Given the description of an element on the screen output the (x, y) to click on. 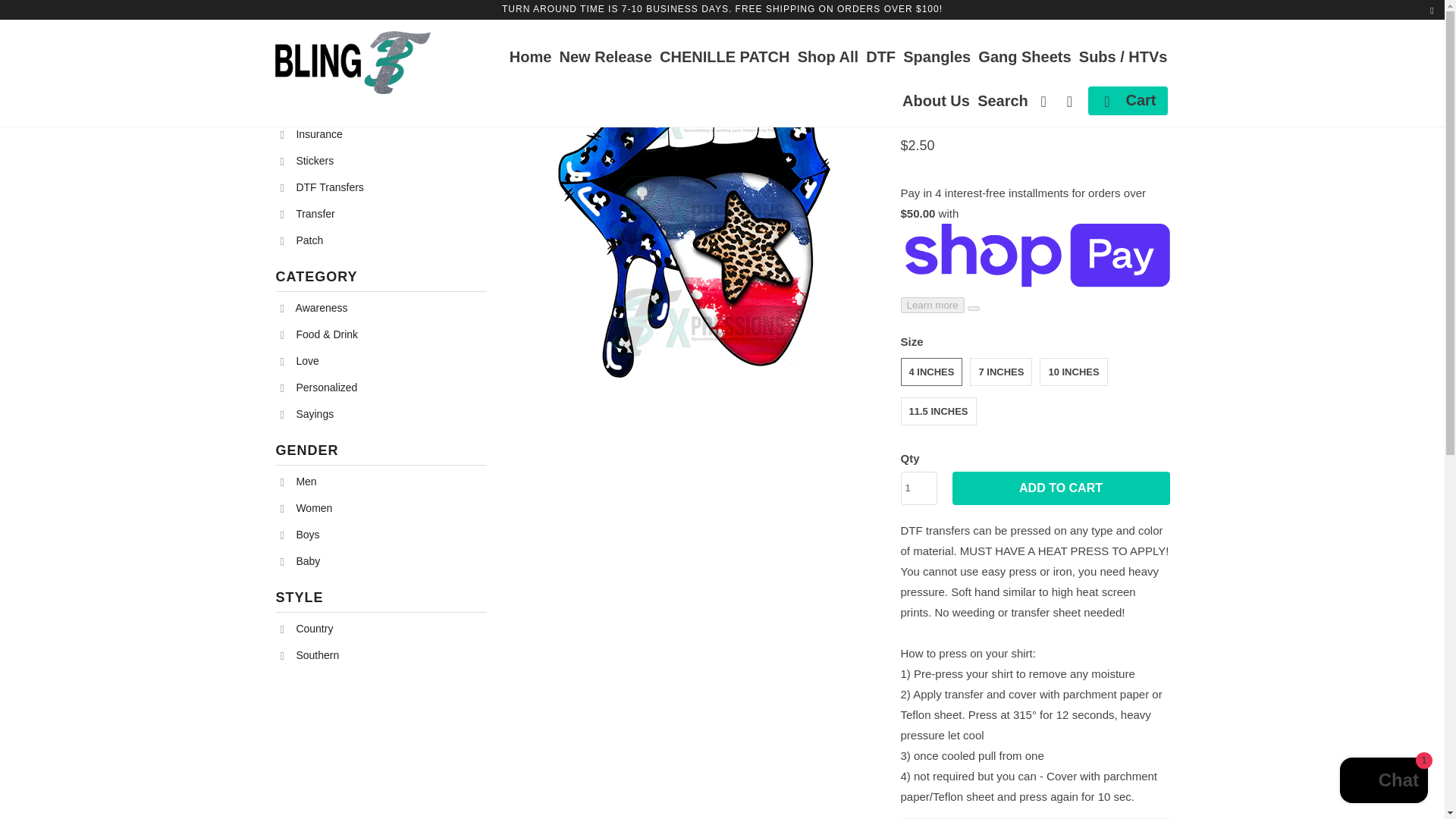
Add filter:  Boys (300, 534)
Add filter:  Love (299, 360)
All (381, 521)
Insurance (328, 24)
Love (311, 134)
Add filter:  Awareness (299, 360)
Add filter:  Baby (314, 307)
Add filter:  Women (300, 560)
Add filter:  Men (307, 507)
Add filter:  Insurance (299, 481)
Awareness (311, 134)
DTF Transfers (314, 307)
All (322, 187)
Baby (328, 24)
